Given the description of an element on the screen output the (x, y) to click on. 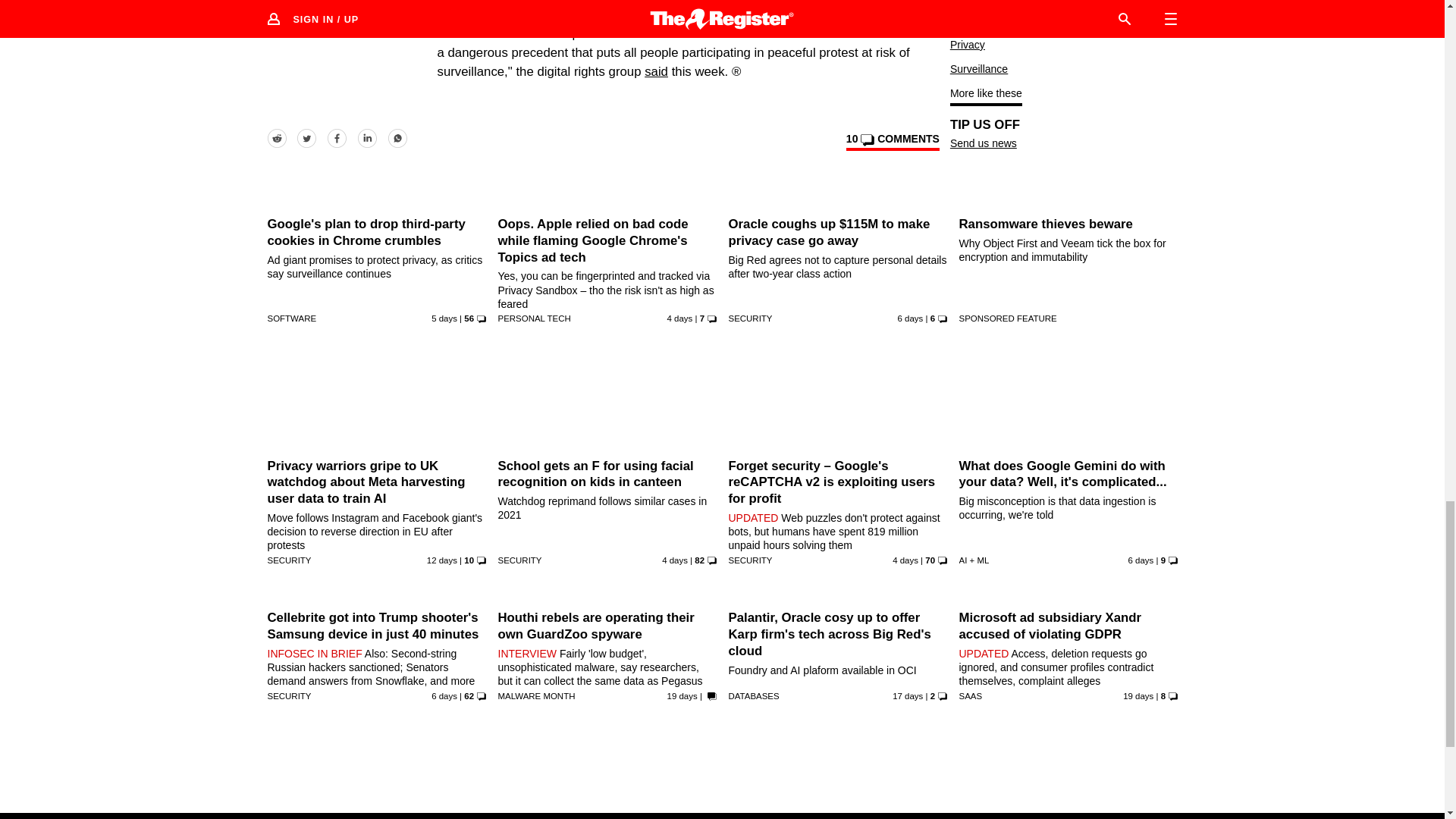
22 Jul 2024 13:45 (910, 317)
9 Jul 2024 10:56 (681, 696)
View comments on this article (892, 141)
22 Jul 2024 3:44 (443, 696)
24 Jul 2024 8:32 (674, 560)
22 Jul 2024 19:15 (1141, 560)
23 Jul 2024 0:3 (443, 317)
24 Jul 2024 20:44 (679, 317)
16 Jul 2024 11:25 (441, 560)
24 Jul 2024 6:33 (905, 560)
